Given the description of an element on the screen output the (x, y) to click on. 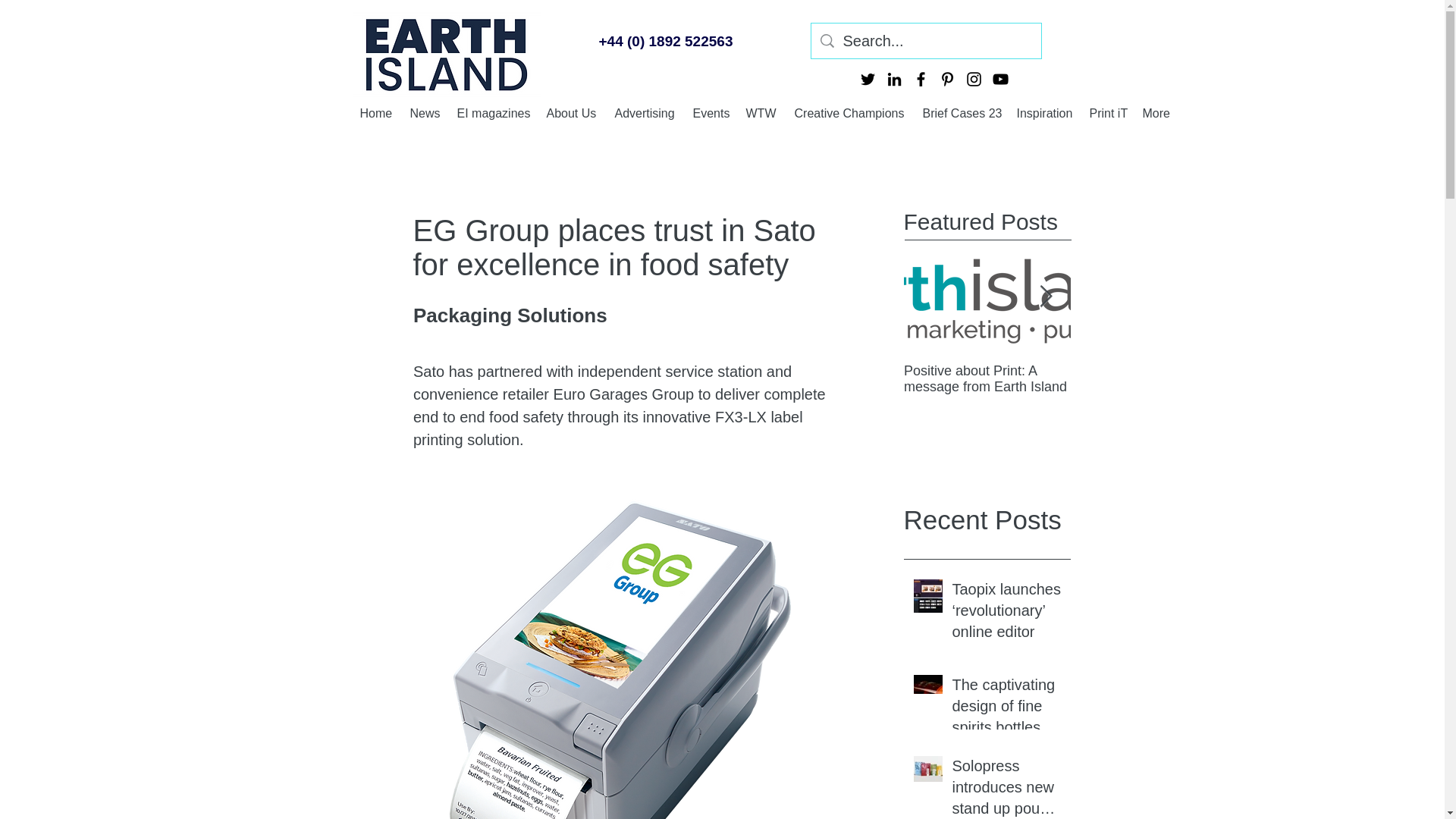
EI magazines (493, 112)
WTW (762, 112)
Advertising (645, 112)
Home (376, 112)
Positive about Print: A message from Earth Island (987, 377)
Brief Cases 23 (961, 112)
News (424, 112)
About Us (572, 112)
The captivating design of fine spirits bottles (1006, 708)
Inspiration (1045, 112)
Creative Champions (851, 112)
Print iT (1107, 112)
Solopress introduces new stand up pouch packaging (1006, 787)
Events (711, 112)
Positive about Print: A message from Earth Island (1153, 377)
